Given the description of an element on the screen output the (x, y) to click on. 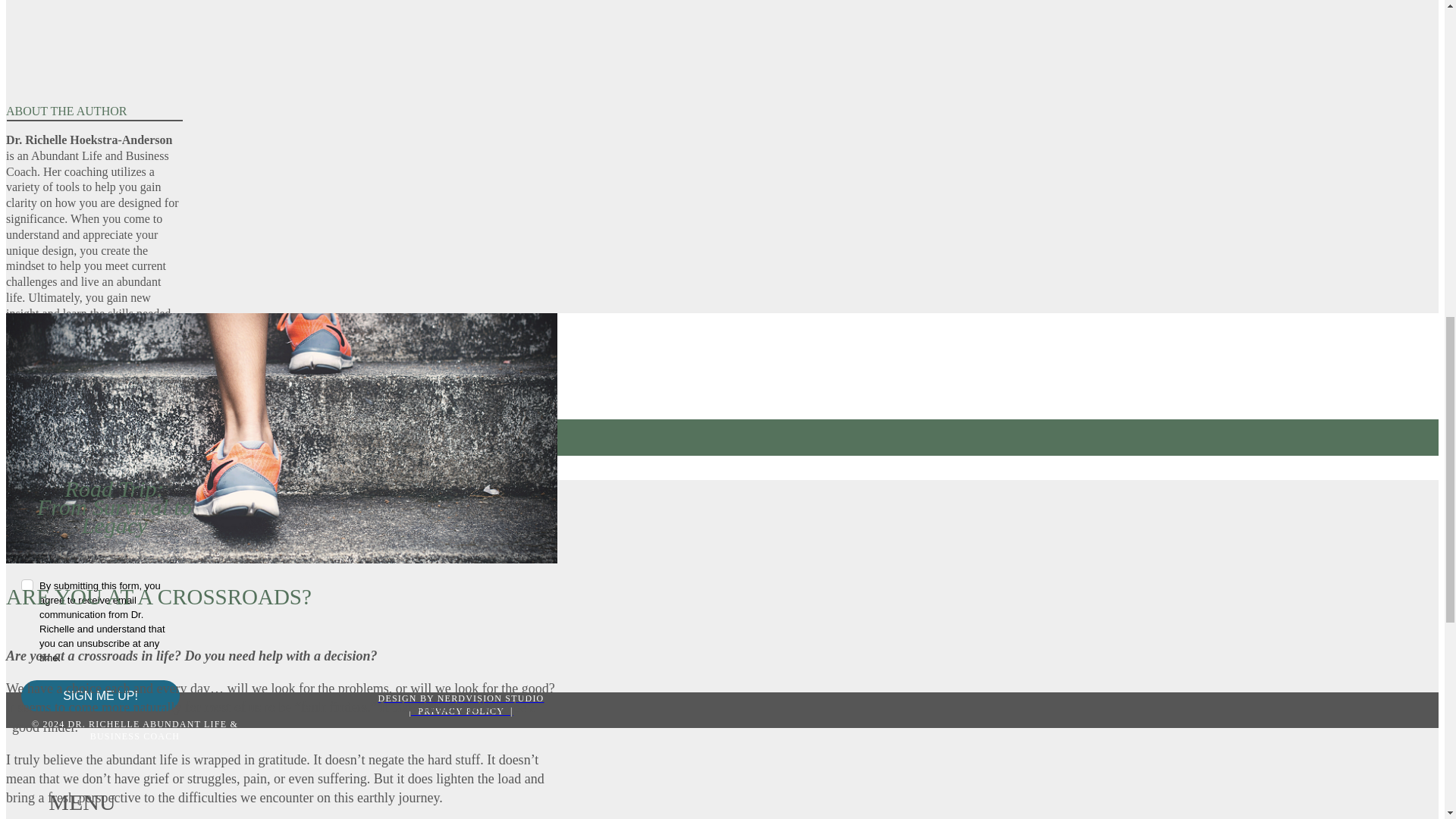
DESIGN BY NERDVISION STUDIO (460, 698)
SIGN ME UP! (100, 695)
